Given the description of an element on the screen output the (x, y) to click on. 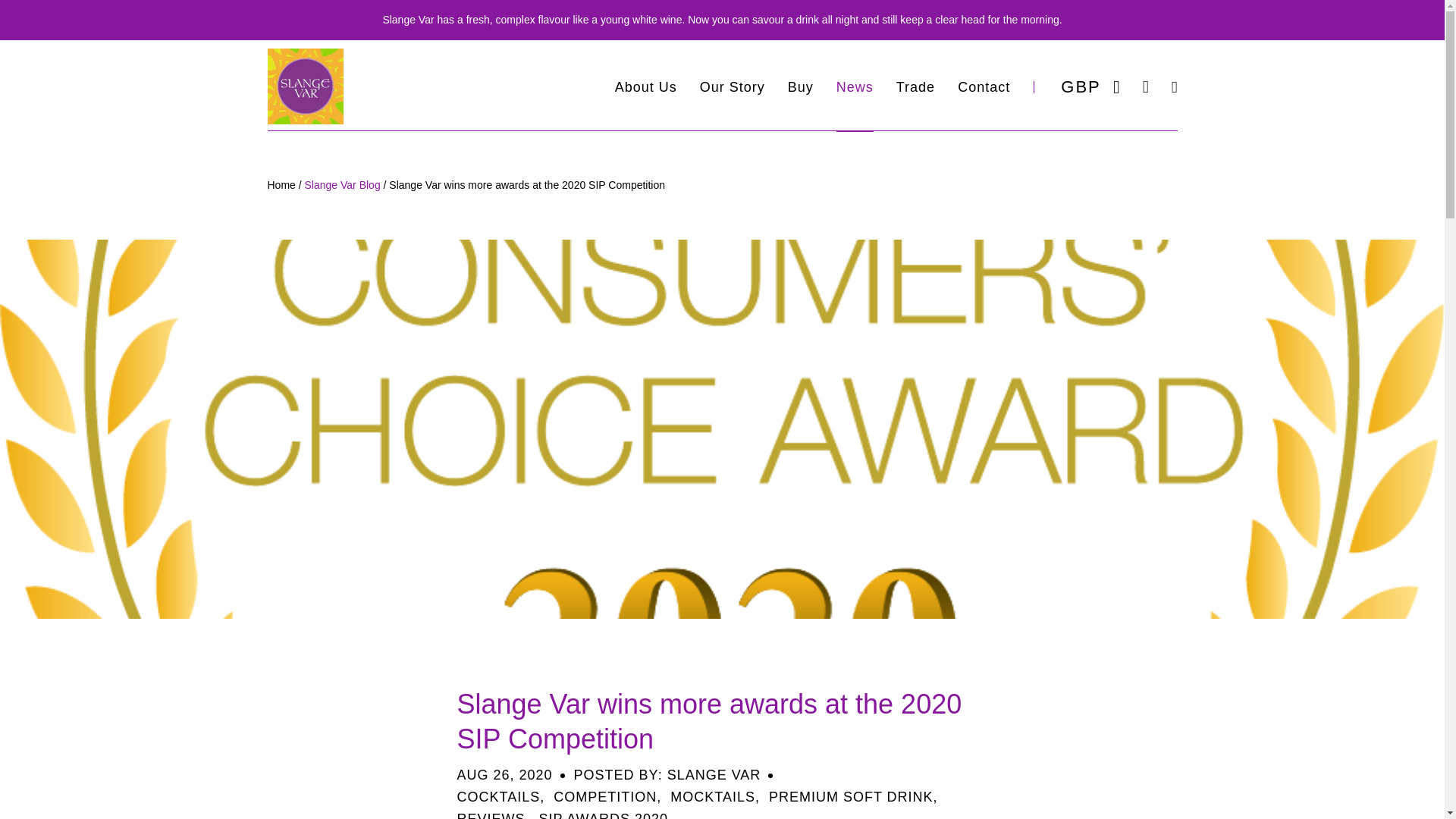
About Us (645, 87)
Contact (984, 87)
Buy (800, 87)
COMPETITION (604, 796)
Trade (915, 87)
SIP AWARDS 2020 (603, 815)
REVIEWS (490, 815)
Slange Var Blog (342, 184)
Our Story (732, 87)
Home (280, 184)
News (854, 87)
MOCKTAILS (712, 796)
PREMIUM SOFT DRINK (850, 796)
COCKTAILS (498, 796)
